Given the description of an element on the screen output the (x, y) to click on. 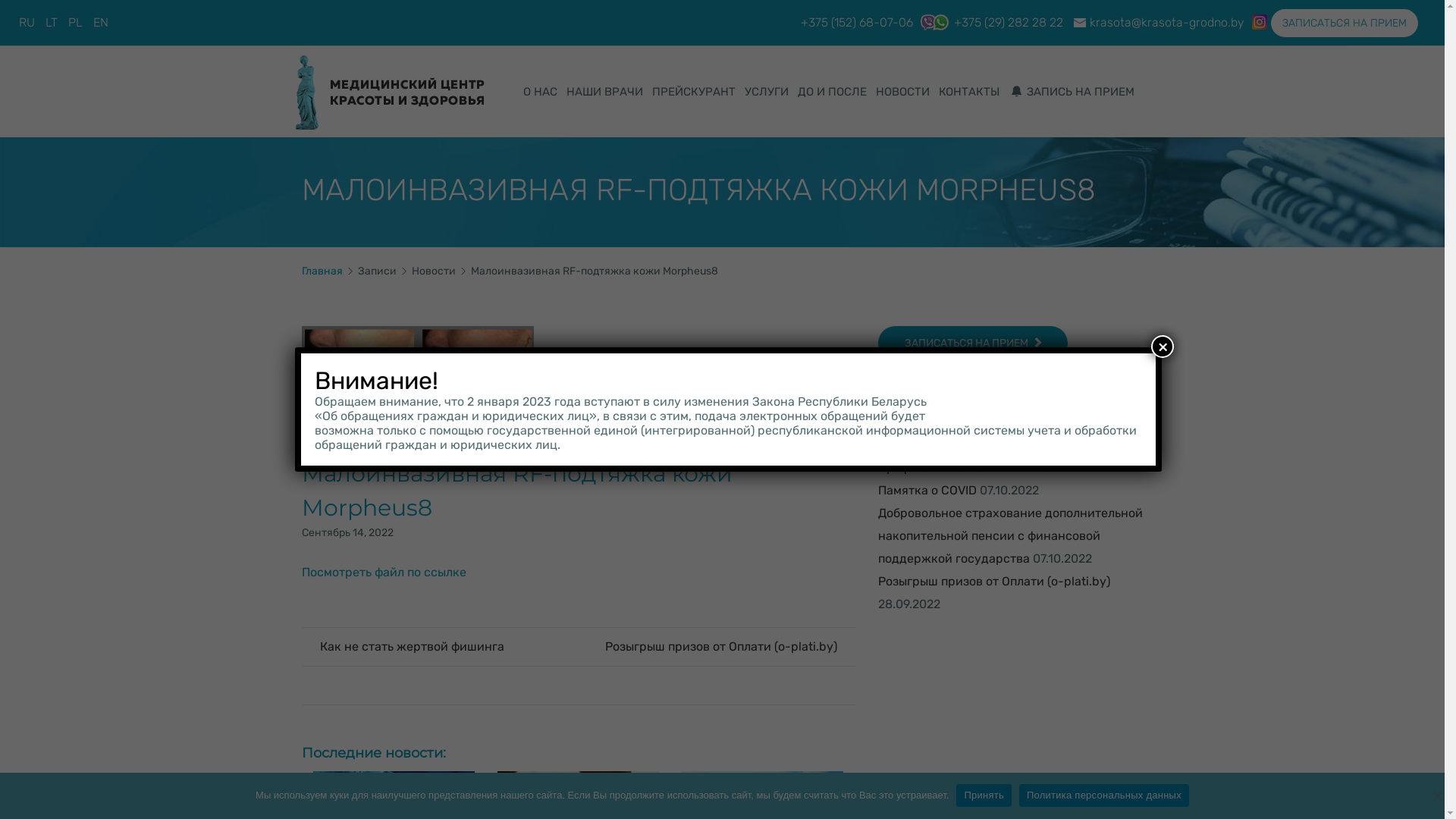
PL Element type: text (74, 22)
EN Element type: text (100, 22)
krasota@krasota-grodno.by Element type: text (1166, 22)
+375 (29) 282 28 22 Element type: text (988, 22)
LT Element type: text (50, 22)
+375 (152) 68-07-06 Element type: text (856, 22)
RU Element type: text (26, 22)
Regina Lite Element type: hover (389, 91)
